Given the description of an element on the screen output the (x, y) to click on. 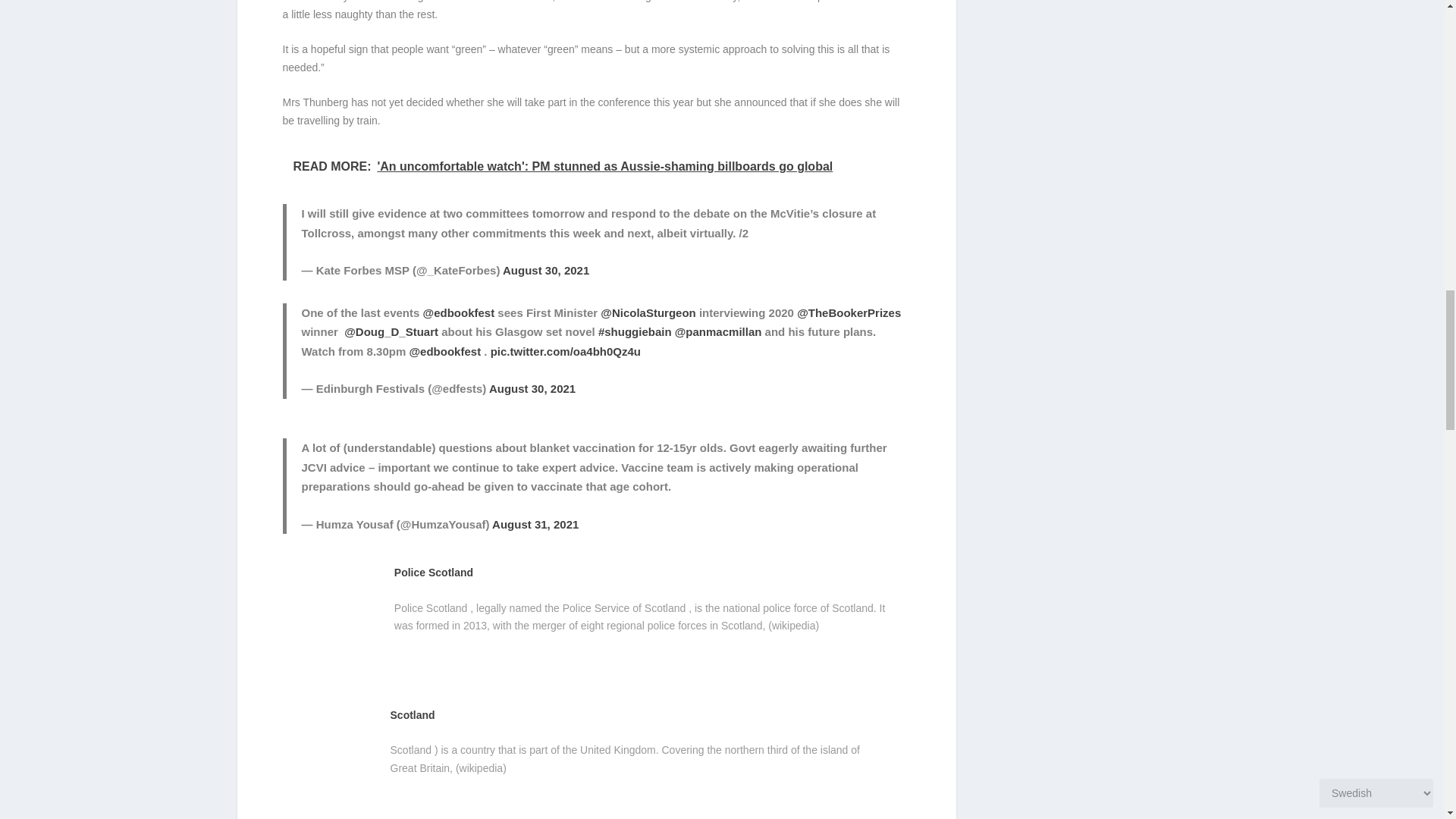
August 30, 2021 (545, 269)
August 31, 2021 (535, 523)
August 30, 2021 (532, 388)
